Given the description of an element on the screen output the (x, y) to click on. 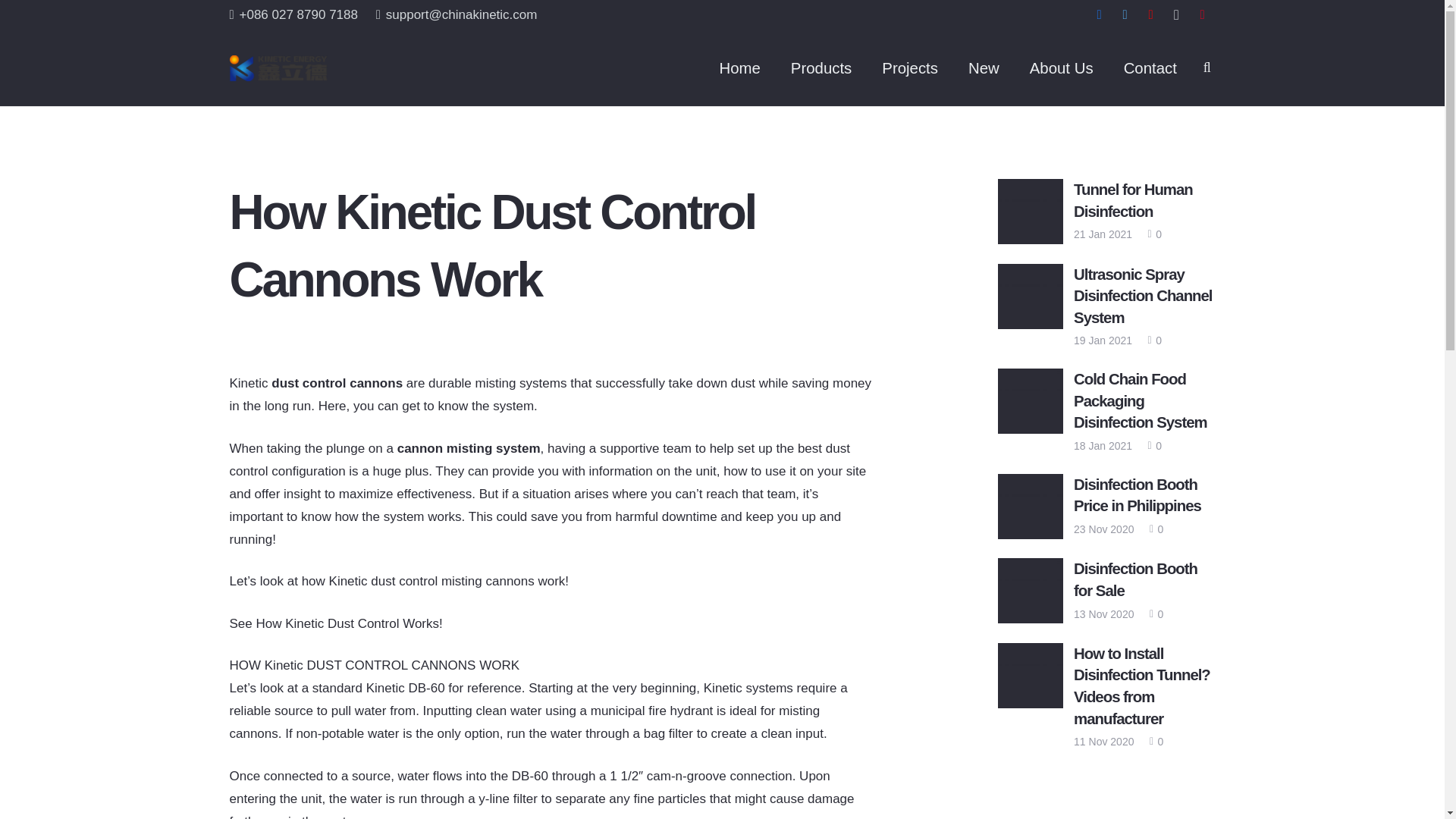
Products (821, 68)
About Us (1061, 68)
YouTube (1150, 14)
Twitter (1124, 14)
Cold Chain Food Packaging Disinfection System (1140, 400)
Contact (1150, 68)
Pinterest (1201, 14)
Disinfection Booth Price in Philippines (1137, 495)
Tunnel for Human Disinfection (1133, 200)
Ultrasonic Spray Disinfection Channel System (1142, 295)
Instagram (1176, 14)
Projects (909, 68)
Disinfection Booth for Sale (1135, 579)
Facebook (1099, 14)
Home (738, 68)
